Given the description of an element on the screen output the (x, y) to click on. 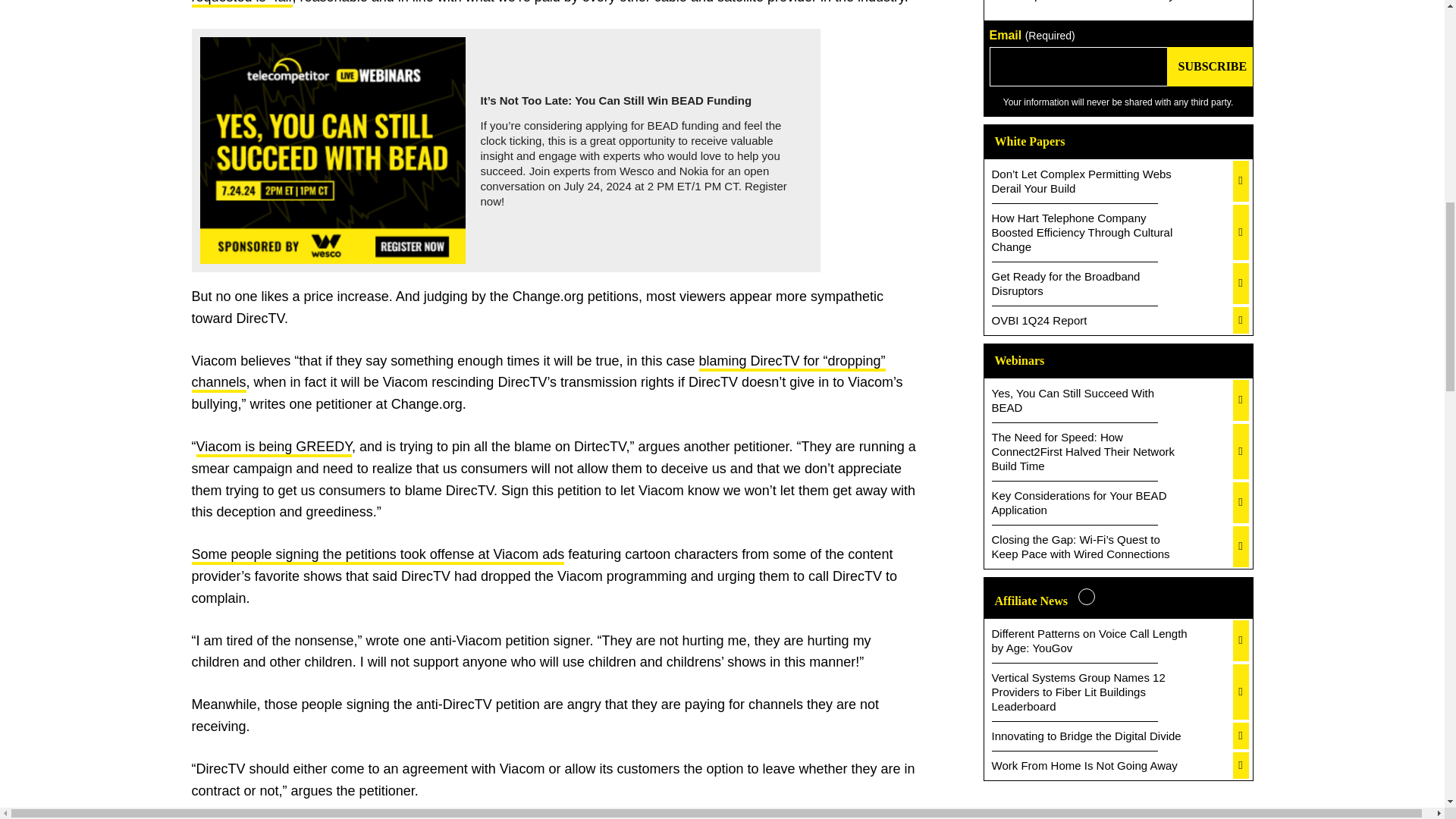
Viacom is being GREEDY (272, 447)
Some people signing the petitions took offense at Viacom ads (377, 556)
blaming DirecTV for "dropping" channels (537, 372)
